Given the description of an element on the screen output the (x, y) to click on. 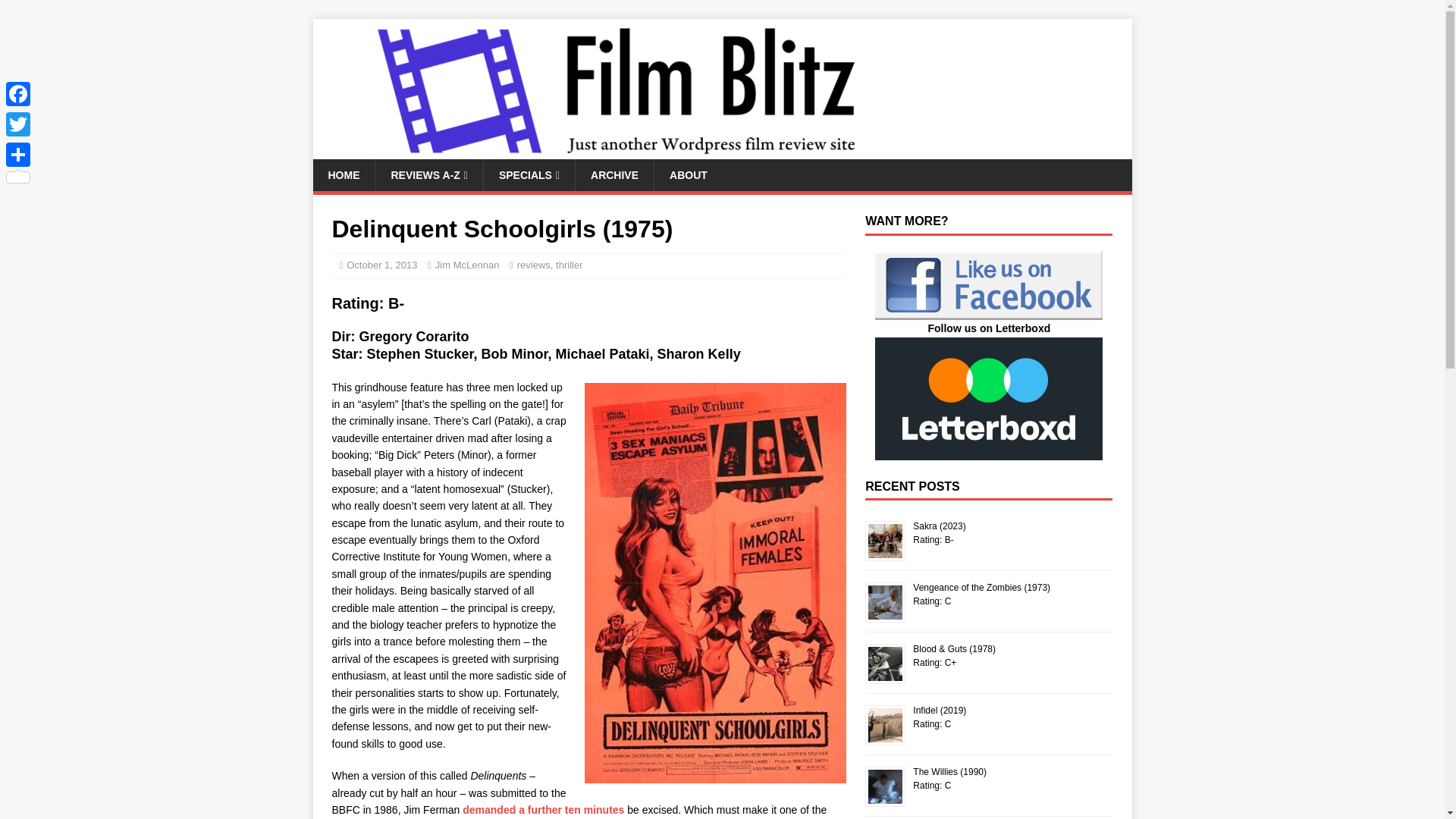
HOME (343, 174)
ABOUT (687, 174)
reviews (533, 265)
ARCHIVE (614, 174)
thriller (569, 265)
SPECIALS (529, 174)
October 1, 2013 (381, 265)
Jim McLennan (467, 265)
REVIEWS A-Z (427, 174)
Facebook (17, 93)
